Given the description of an element on the screen output the (x, y) to click on. 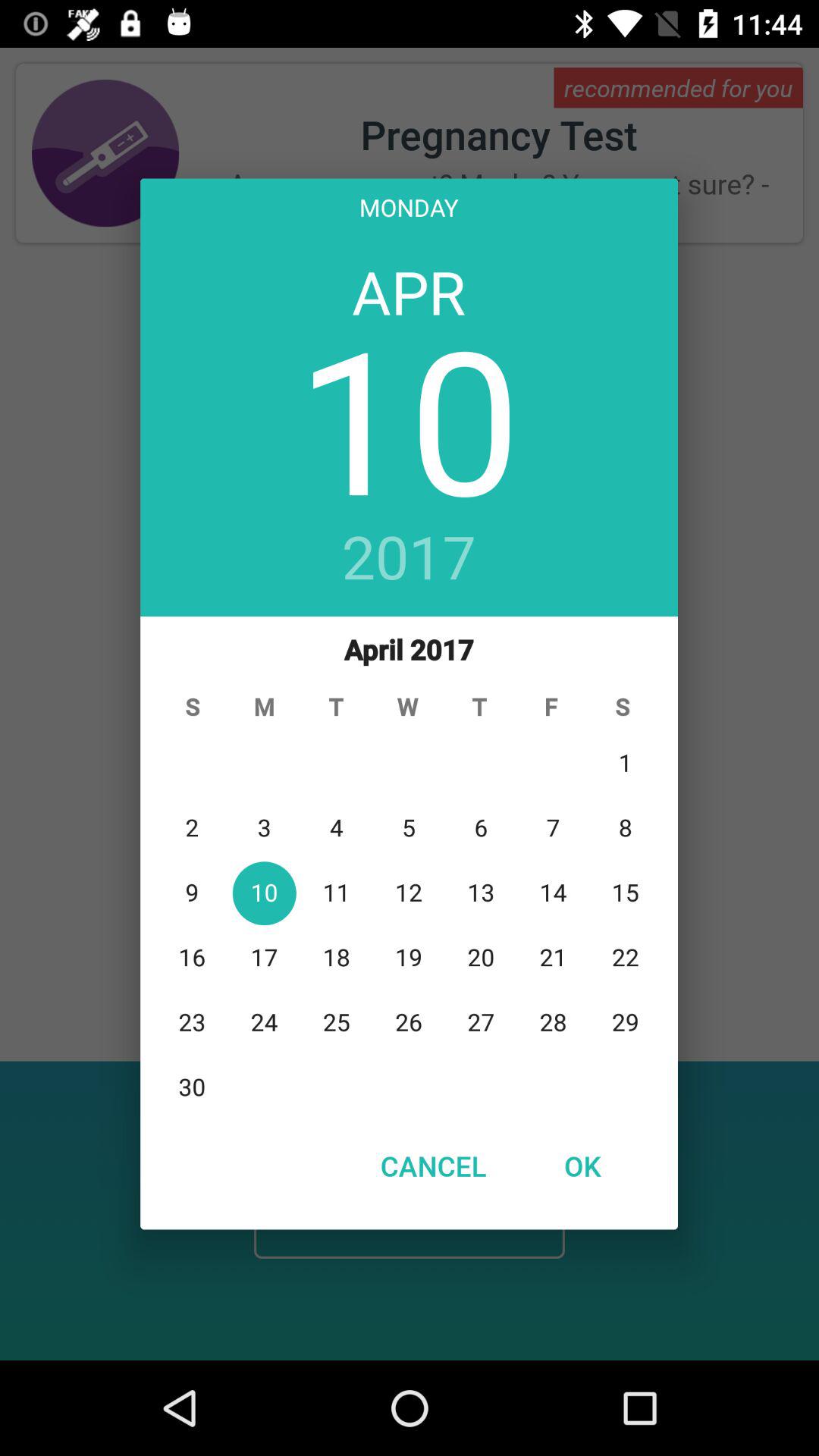
select app below the 10 app (408, 559)
